Given the description of an element on the screen output the (x, y) to click on. 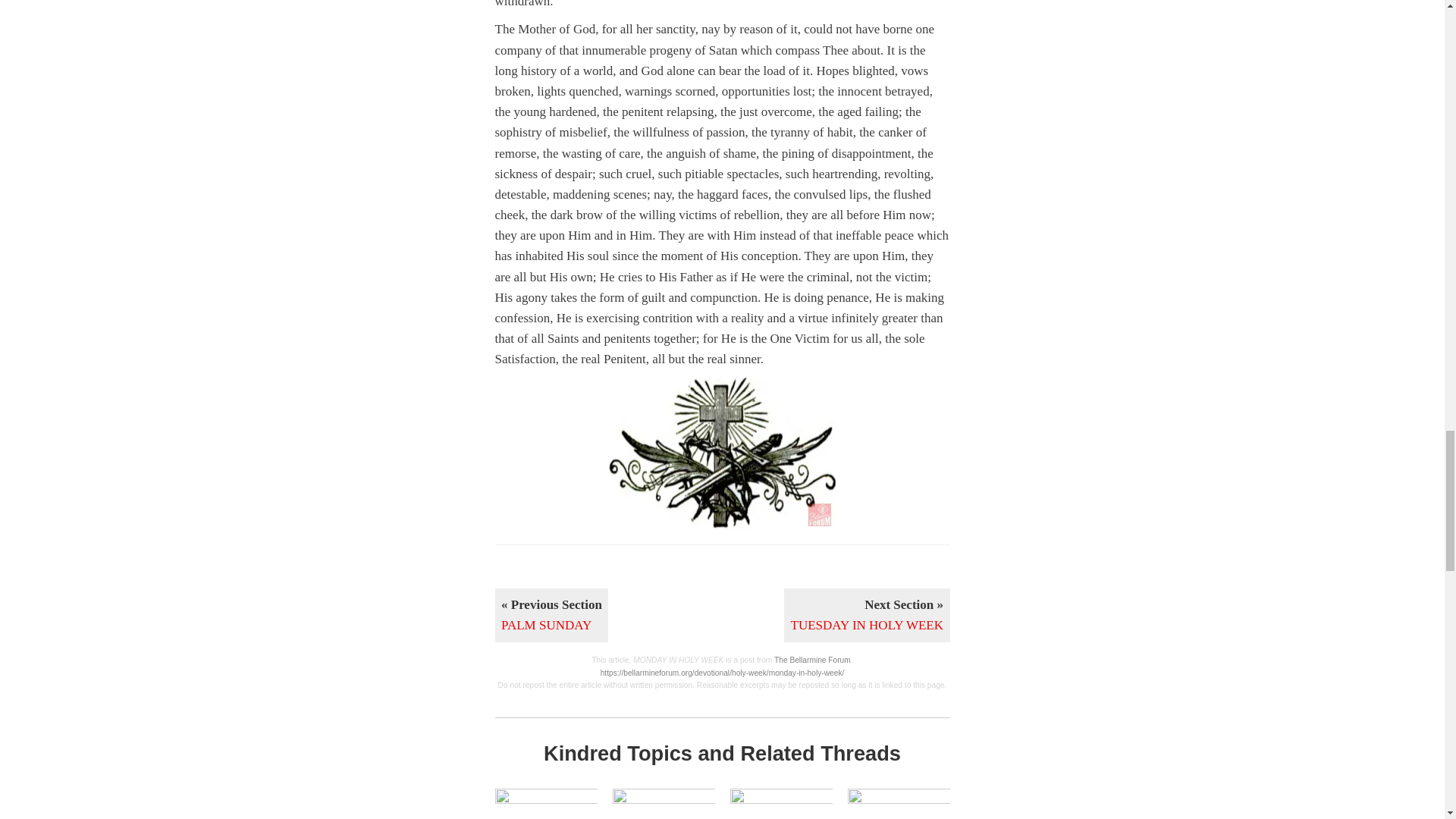
PALM SUNDAY (780, 803)
A Little Book For Holy Week (545, 803)
TUESDAY IN HOLY WEEK (867, 615)
PALM SUNDAY (551, 615)
EASTER SUNDAY (898, 803)
The Bellarmine Forum (812, 660)
Lent Meditations: Preface and Information (663, 803)
